Given the description of an element on the screen output the (x, y) to click on. 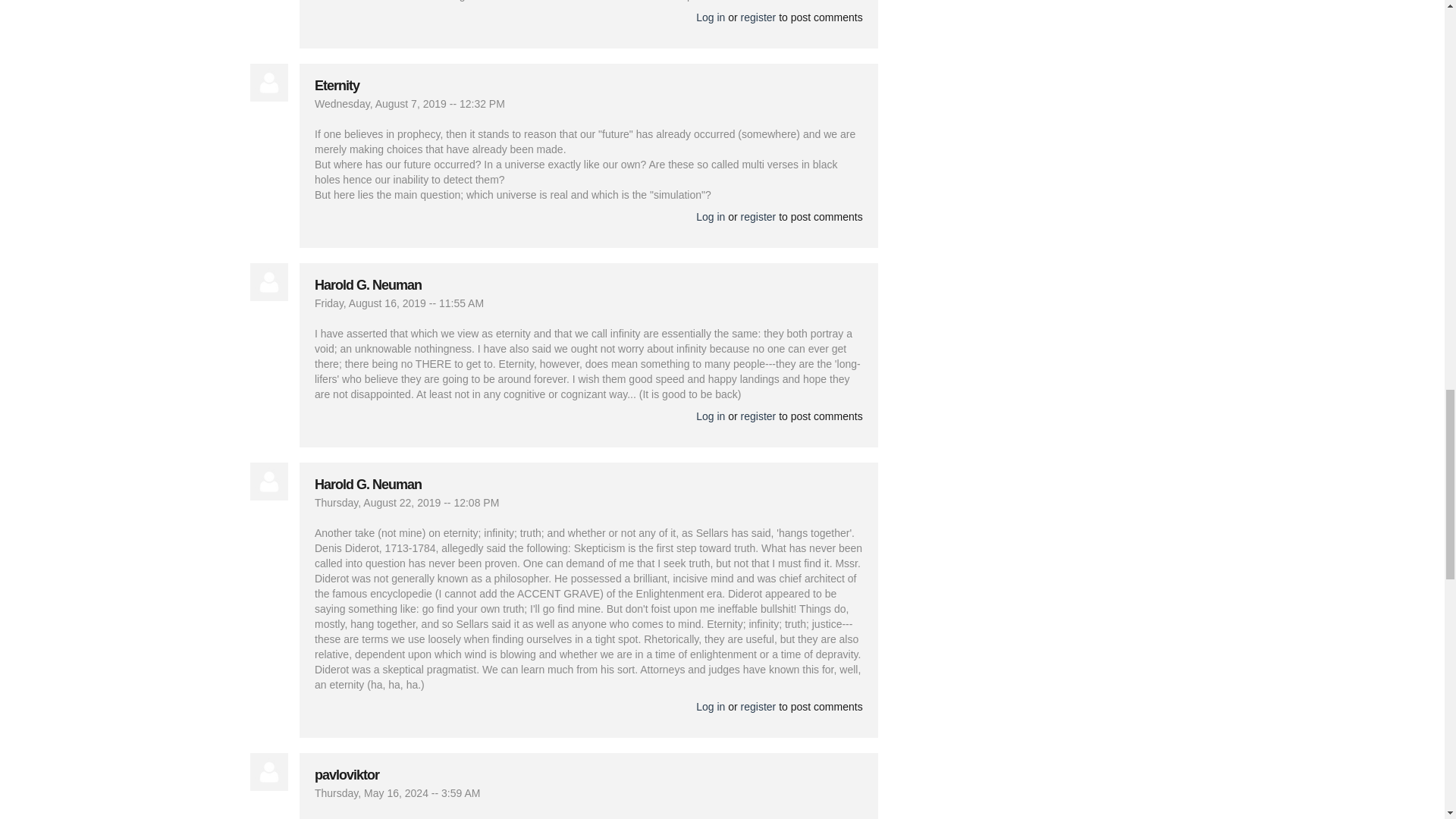
Eternity's picture (269, 82)
pavloviktor's picture (269, 771)
Harold G. Neuman's picture (269, 281)
Harold G. Neuman's picture (269, 481)
